Given the description of an element on the screen output the (x, y) to click on. 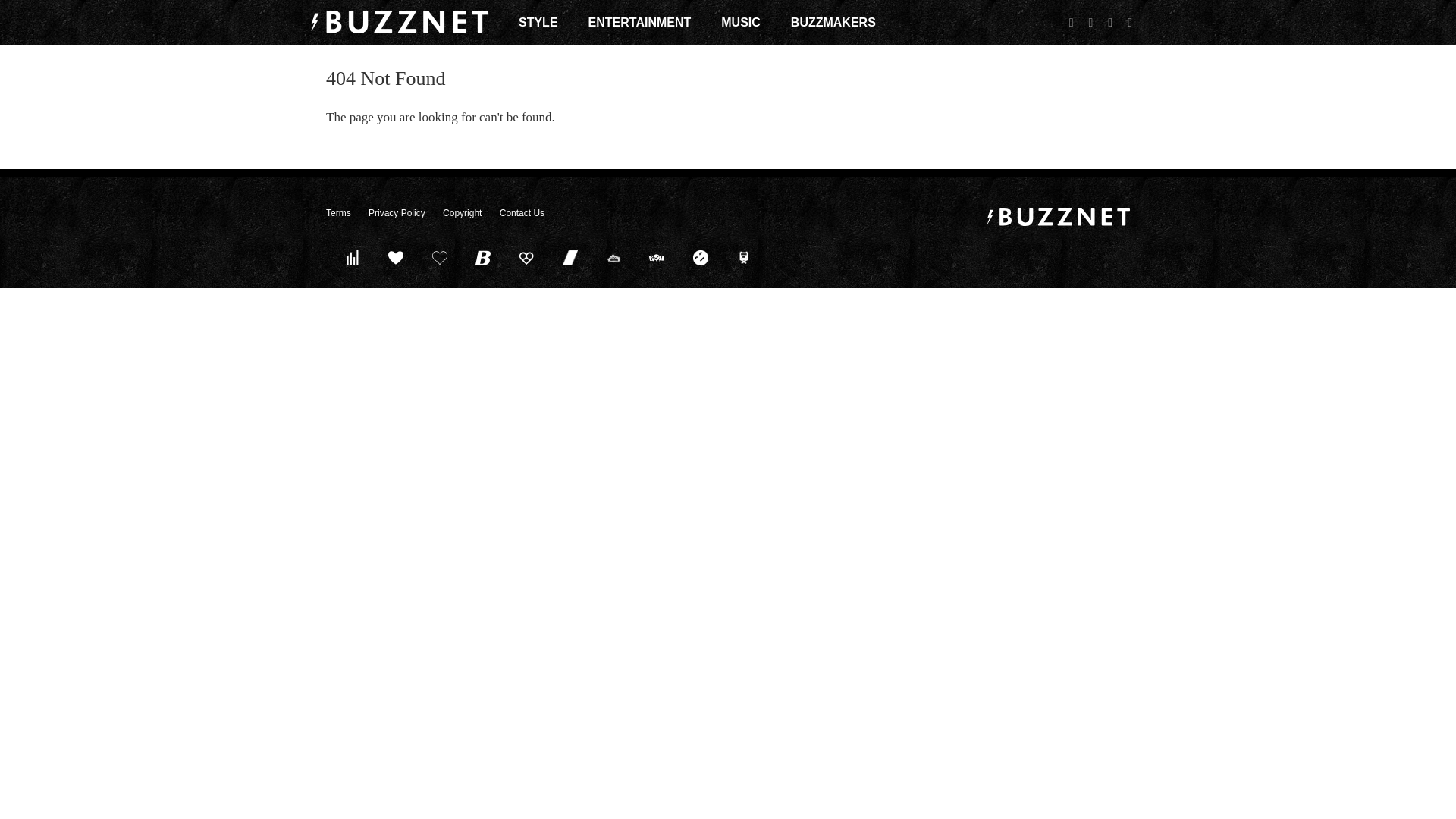
ENTERTAINMENT (639, 22)
Daily Funny (699, 257)
BleacherBreaker (483, 257)
Trend Chaser (570, 257)
Taco Relish (612, 257)
Quizscape (656, 257)
BUZZMAKERS (833, 22)
MUSIC (740, 22)
Explored Hollywood (743, 257)
Post Fun (439, 257)
Terms (338, 213)
STYLE (538, 22)
Privacy Policy (396, 213)
Contact Us (521, 213)
Copyright (461, 213)
